Given the description of an element on the screen output the (x, y) to click on. 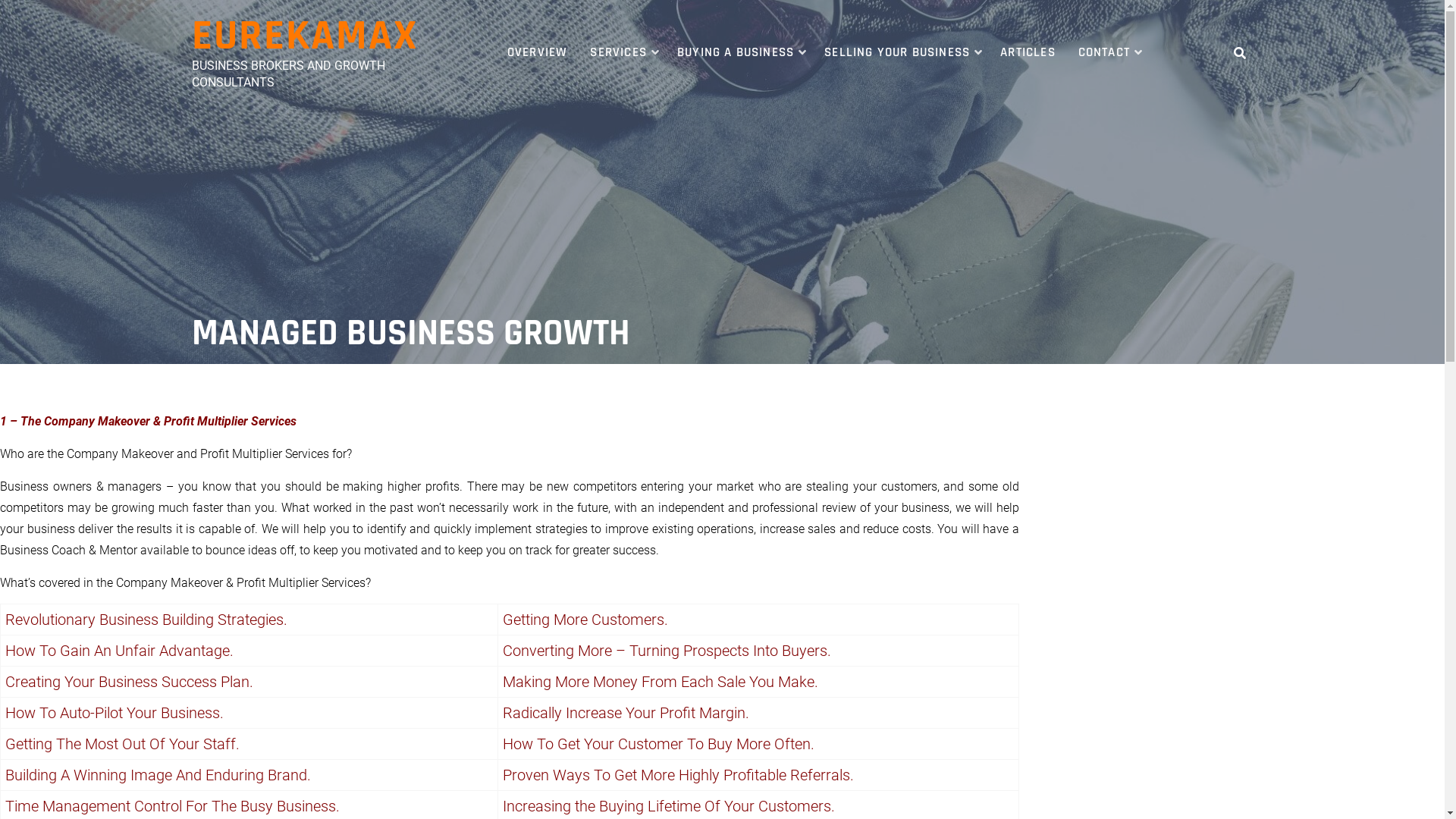
EUREKAMAX Element type: text (304, 35)
SERVICES Element type: text (621, 52)
ARTICLES Element type: text (1027, 52)
Search Element type: text (1220, 108)
BUYING A BUSINESS Element type: text (738, 52)
OVERVIEW Element type: text (537, 52)
SELLING YOUR BUSINESS Element type: text (900, 52)
CONTACT Element type: text (1107, 52)
